Given the description of an element on the screen output the (x, y) to click on. 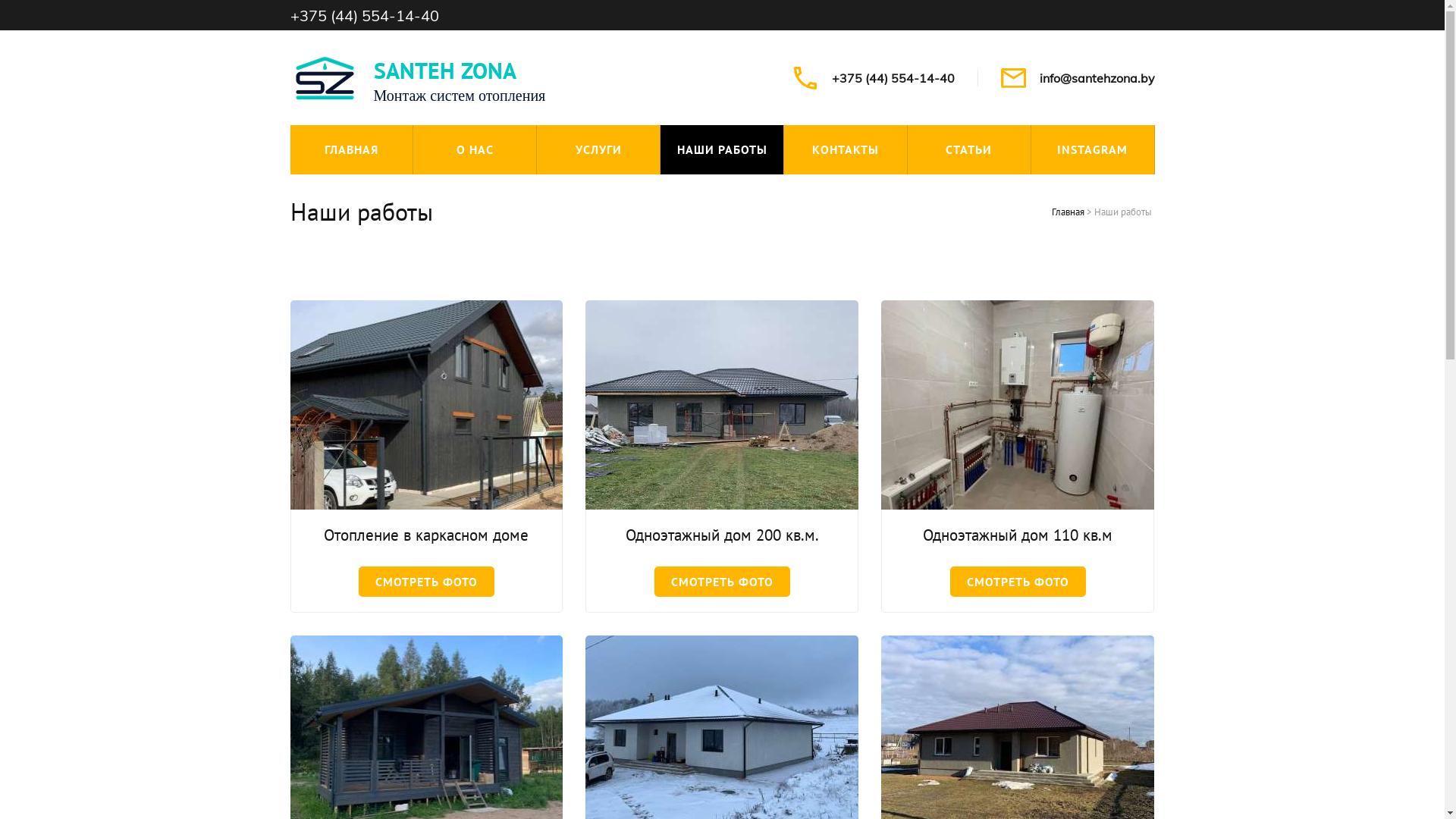
info@santehzona.by Element type: text (1096, 77)
SANTEH ZONA Element type: text (444, 69)
+375 (44) 554-14-40 Element type: text (892, 77)
INSTAGRAM Element type: text (1092, 149)
+375 (44) 554-14-40 Element type: text (363, 15)
